Given the description of an element on the screen output the (x, y) to click on. 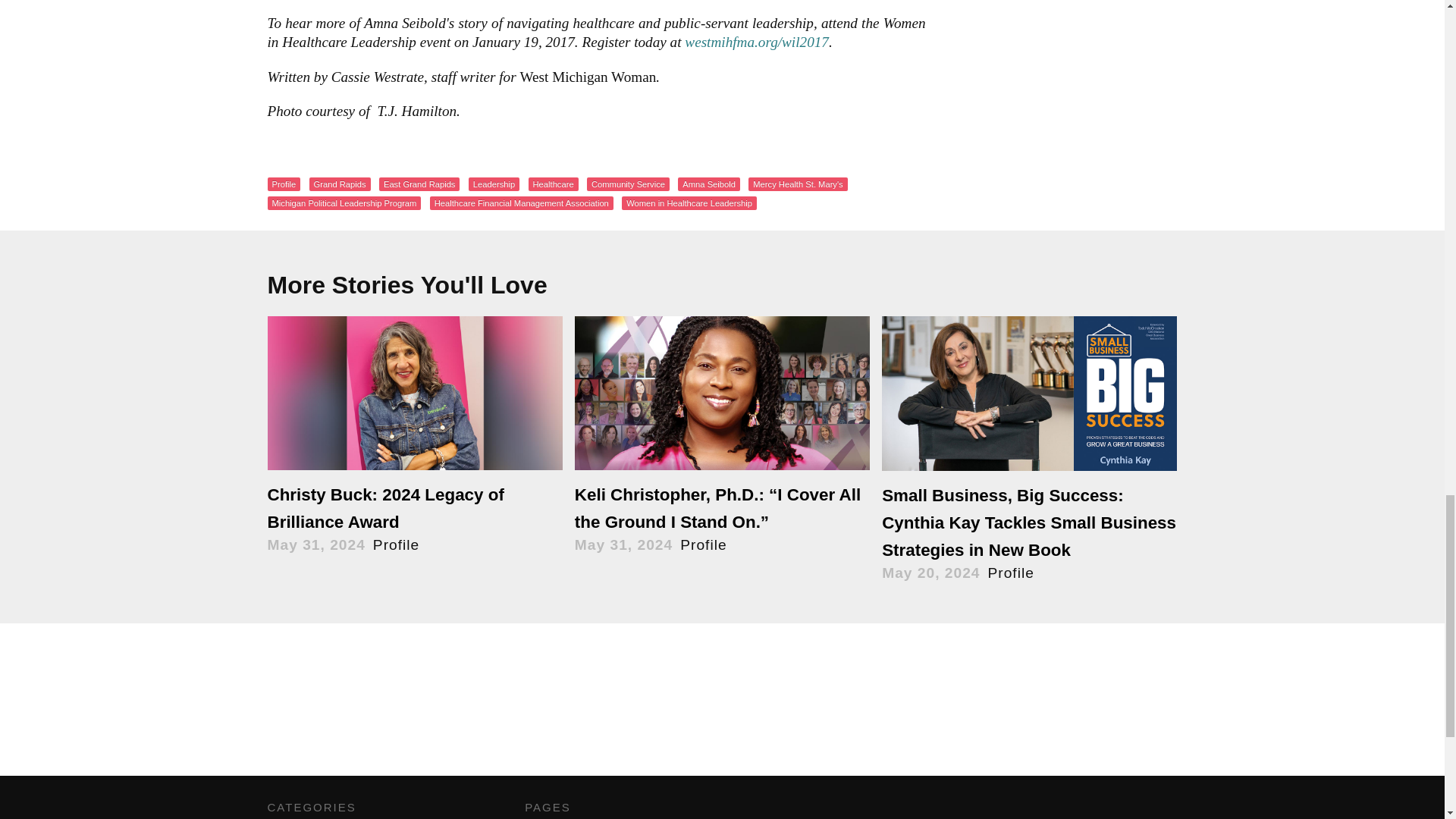
Grand Rapids (339, 183)
3rd party ad content (721, 713)
Profile (282, 183)
East Grand Rapids (419, 183)
